Given the description of an element on the screen output the (x, y) to click on. 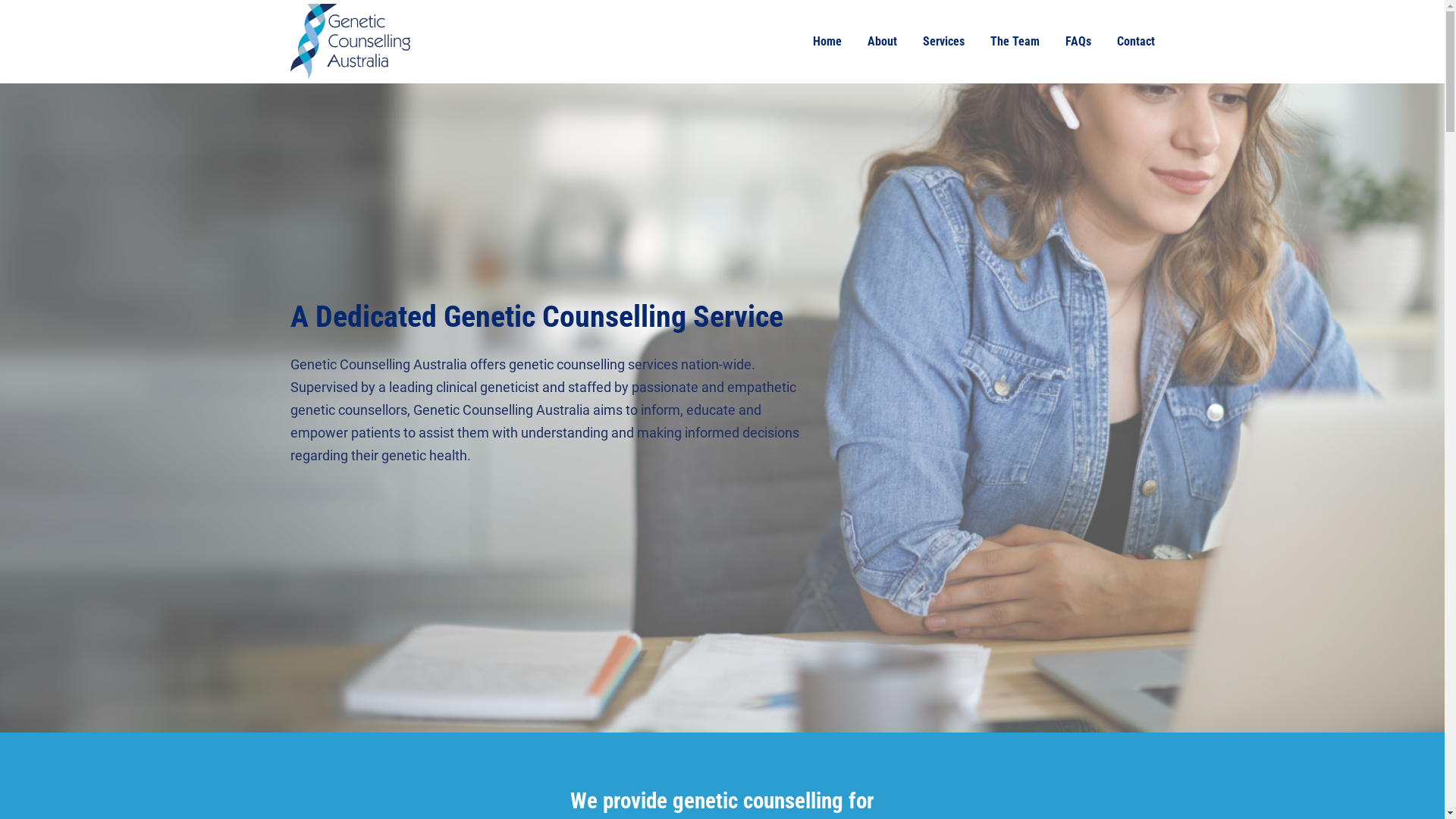
Contact Element type: text (1135, 41)
Home Element type: text (826, 41)
Services Element type: text (942, 41)
About Element type: text (882, 41)
The Team Element type: text (1014, 41)
Home Element type: text (379, 40)
FAQs Element type: text (1077, 41)
